Given the description of an element on the screen output the (x, y) to click on. 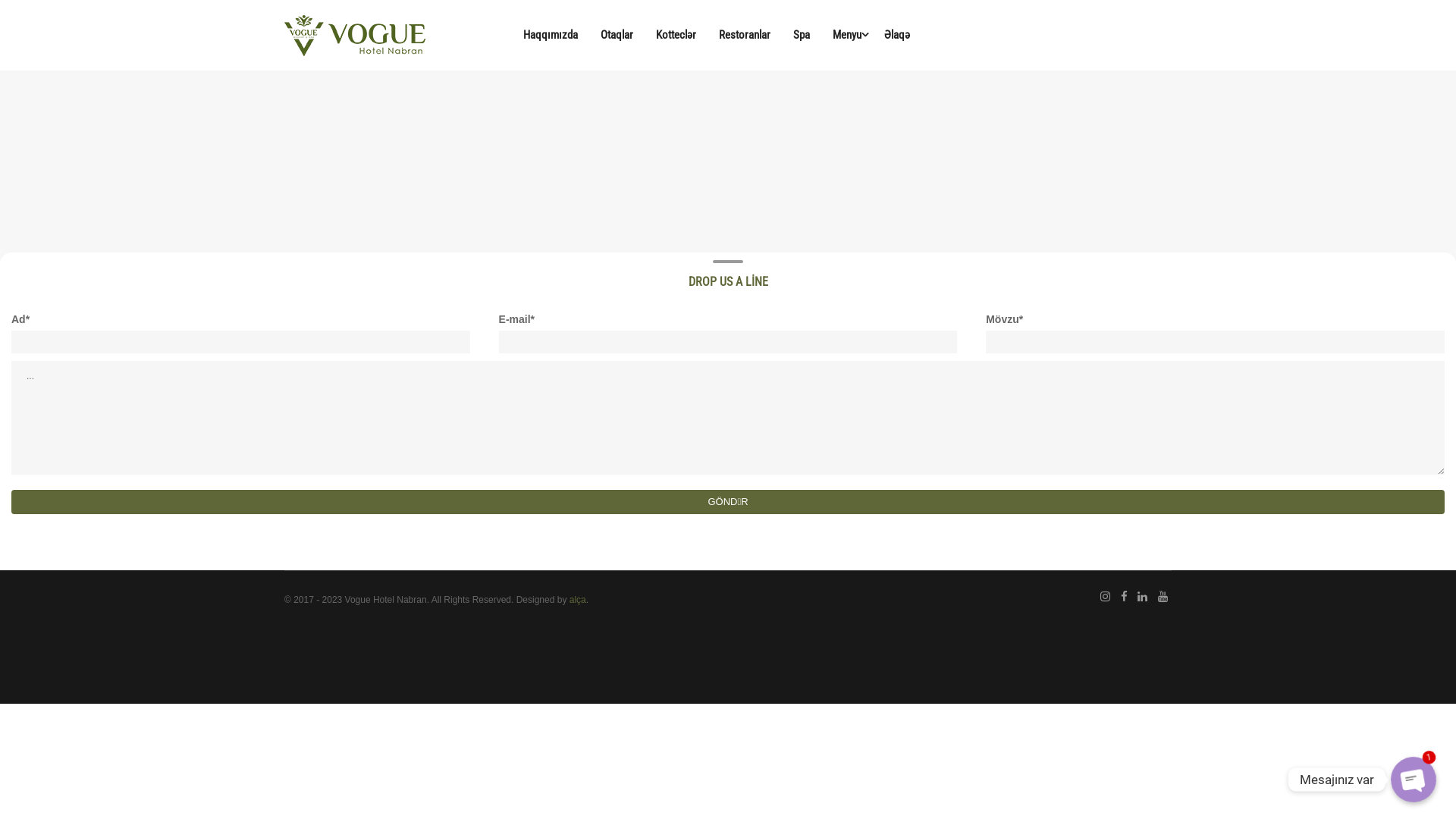
Menyu Element type: text (846, 34)
Restoranlar Element type: text (744, 34)
Otaqlar Element type: text (616, 34)
Spa Element type: text (801, 34)
